Given the description of an element on the screen output the (x, y) to click on. 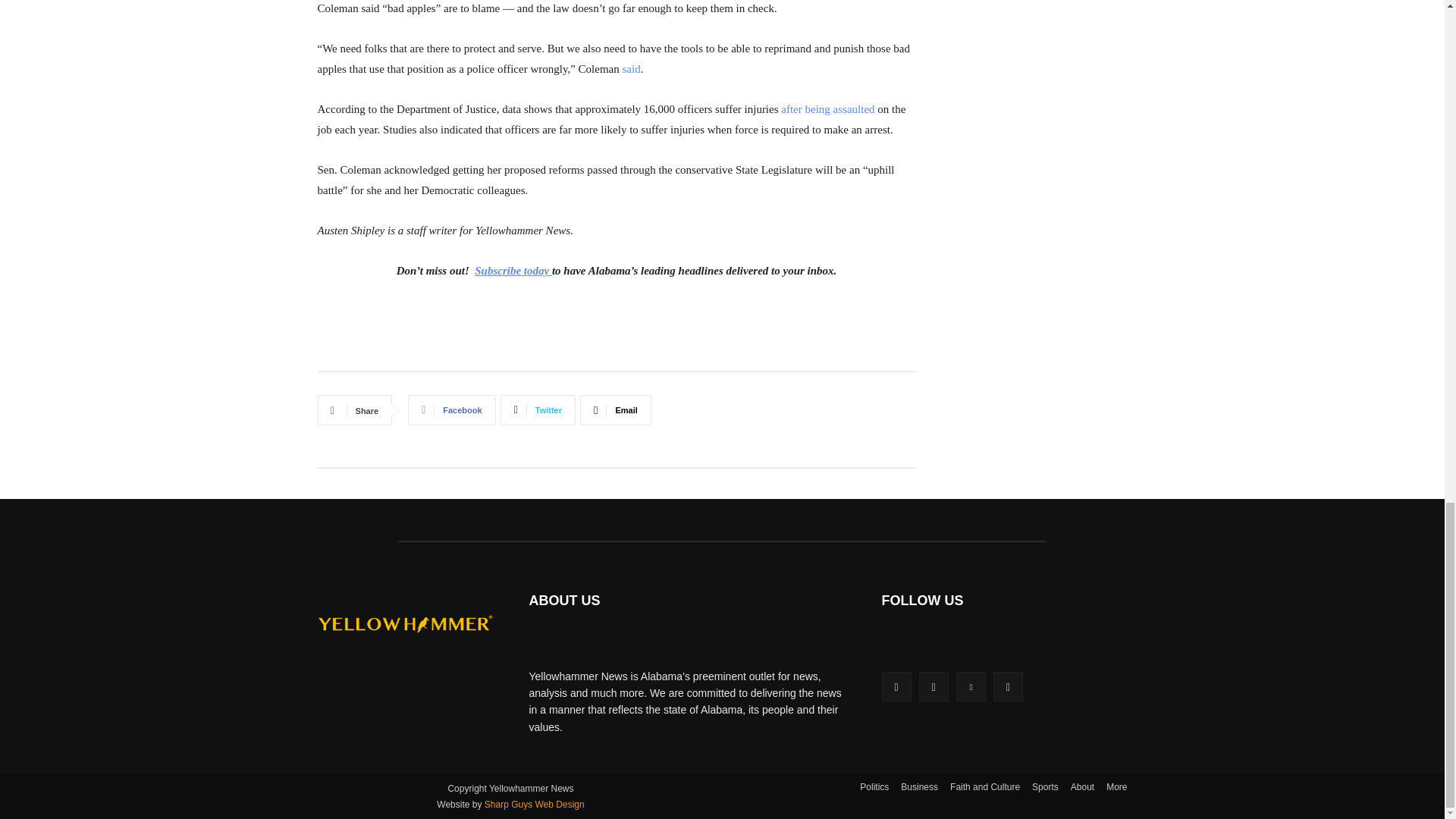
Email (614, 409)
Facebook (451, 409)
Twitter (537, 409)
